Given the description of an element on the screen output the (x, y) to click on. 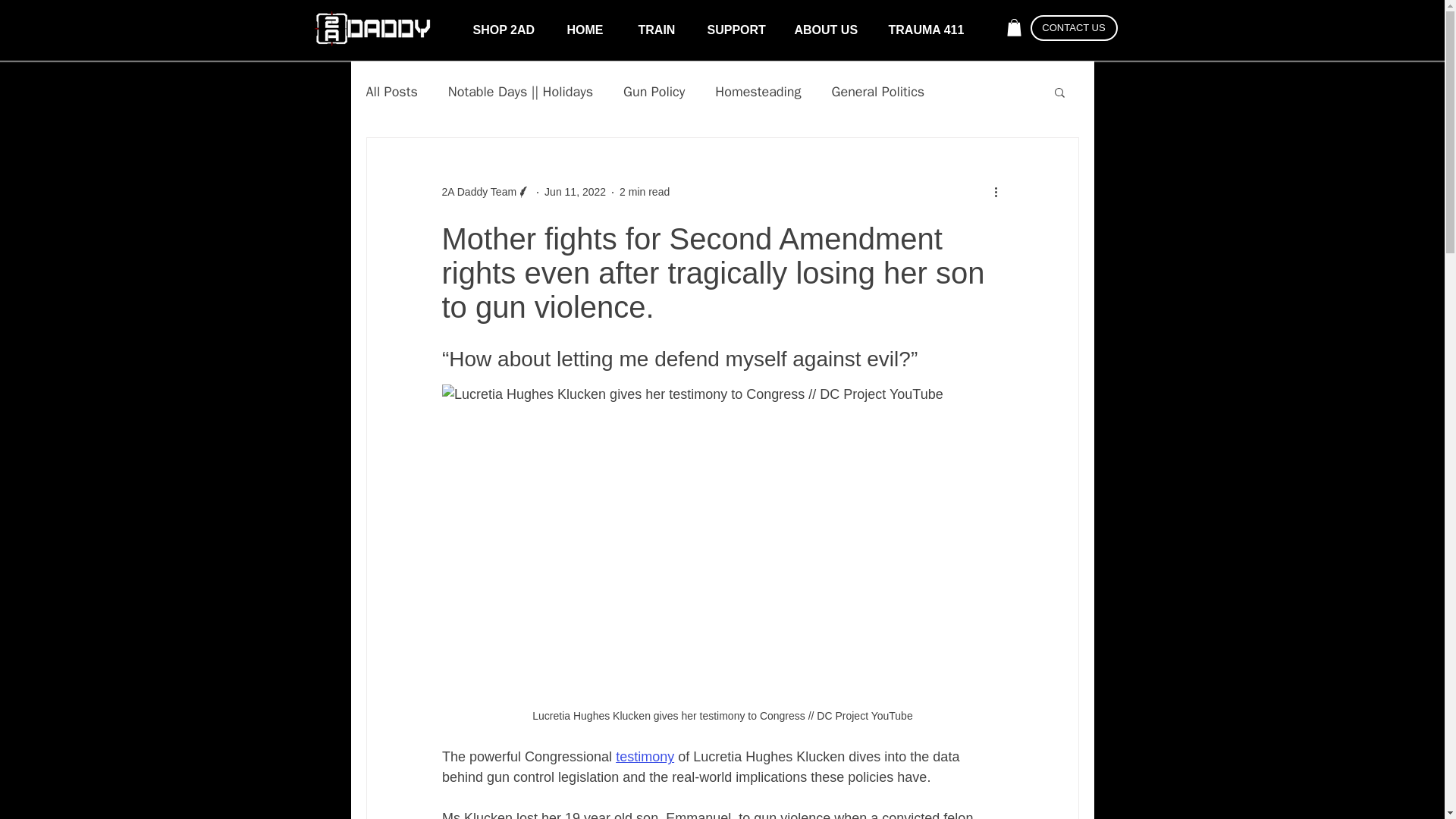
testimony (644, 756)
CONTACT US (1072, 27)
TRAUMA 411 (928, 30)
Gun Policy (653, 91)
Homesteading (757, 91)
All Posts (390, 91)
ABOUT US (829, 30)
General Politics (877, 91)
Jun 11, 2022 (574, 191)
2 min read (644, 191)
SUPPORT (739, 30)
2A Daddy Team (486, 191)
TRAIN (660, 30)
2A Daddy Team (478, 191)
HOME (590, 30)
